Given the description of an element on the screen output the (x, y) to click on. 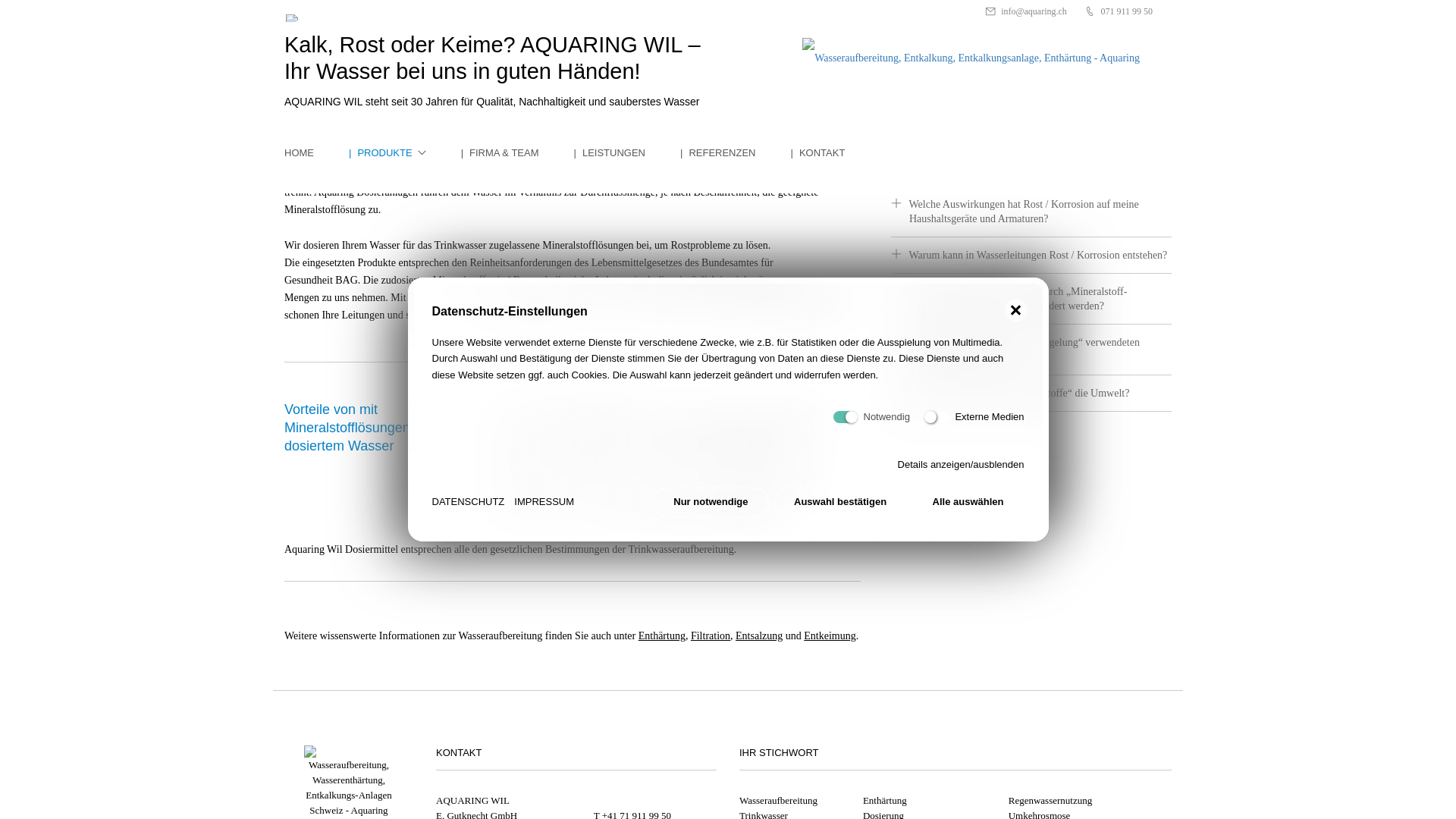
Wasseraufbereitung Element type: text (778, 800)
info@aquaring.ch Element type: text (1025, 11)
Nur notwendige Element type: text (710, 502)
KONTAKT Element type: text (805, 152)
PRODUKTE Element type: text (369, 152)
Entsalzung Element type: text (758, 635)
071 911 99 50 Element type: text (1118, 11)
REFERENZEN Element type: text (706, 152)
Entkeimung Element type: text (829, 635)
IMPRESSUM Element type: text (544, 501)
HOME Element type: text (298, 152)
Regenwassernutzung Element type: text (1050, 800)
Details anzeigen/ausblenden Element type: text (960, 464)
DATENSCHUTZ Element type: text (468, 501)
FIRMA & TEAM Element type: text (488, 152)
LEISTUNGEN Element type: text (598, 152)
Filtration Element type: text (710, 635)
